Given the description of an element on the screen output the (x, y) to click on. 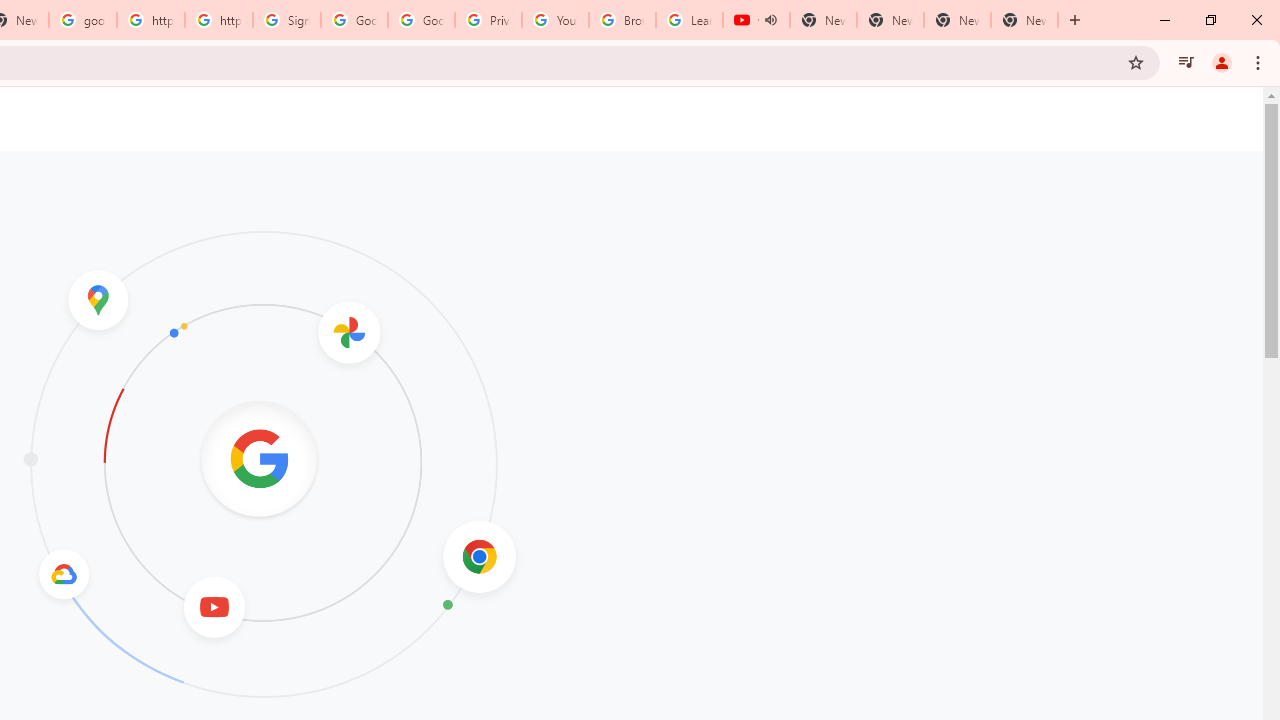
Sign in - Google Accounts (287, 20)
YouTube (555, 20)
New Tab (1024, 20)
